Given the description of an element on the screen output the (x, y) to click on. 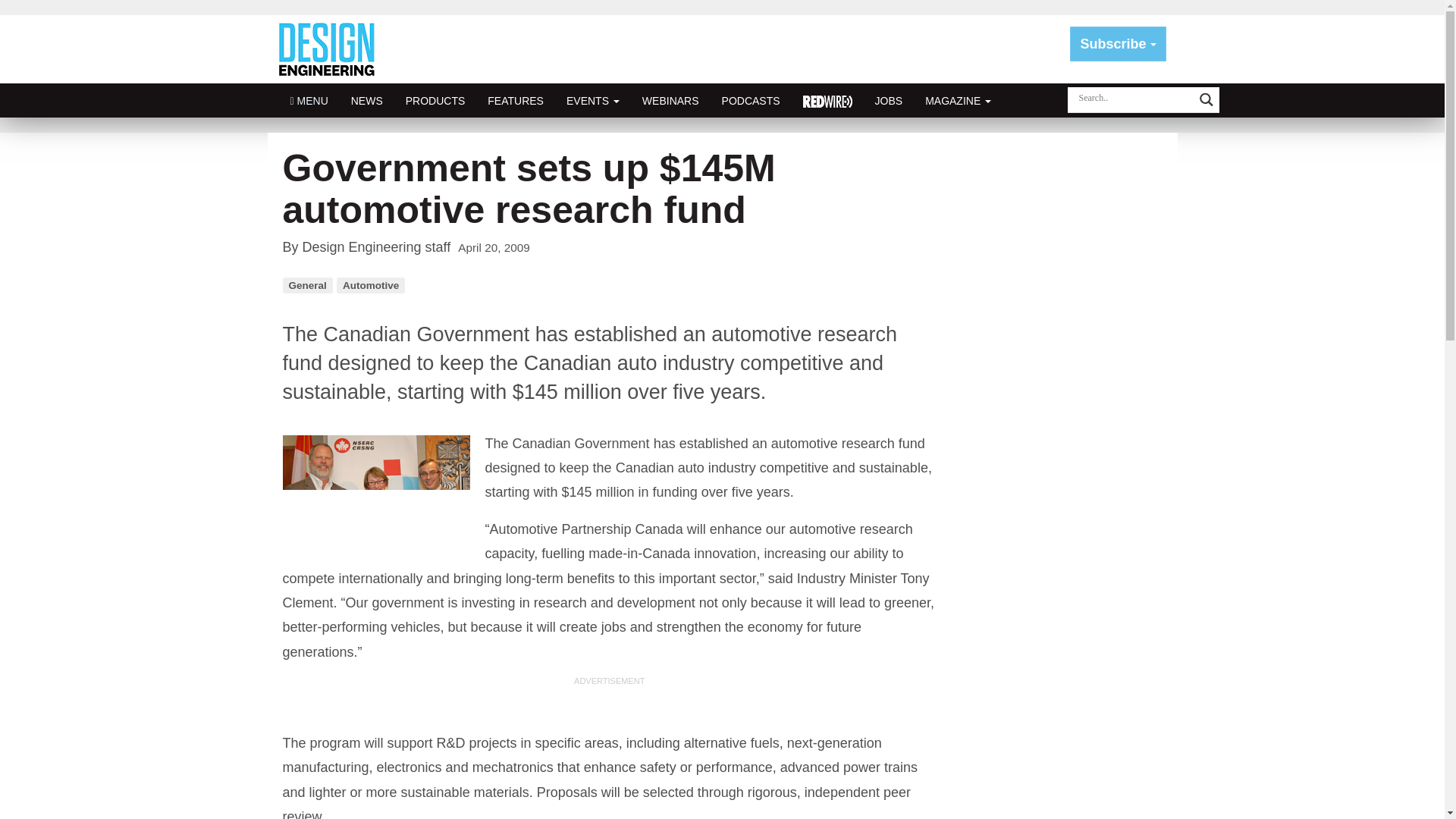
MENU (309, 100)
NEWS (366, 100)
Subscribe (1118, 43)
FEATURES (515, 100)
MAGAZINE (958, 100)
Click to show site navigation (309, 100)
EVENTS (592, 100)
Design Engineering (332, 48)
WEBINARS (670, 100)
PODCASTS (751, 100)
